Given the description of an element on the screen output the (x, y) to click on. 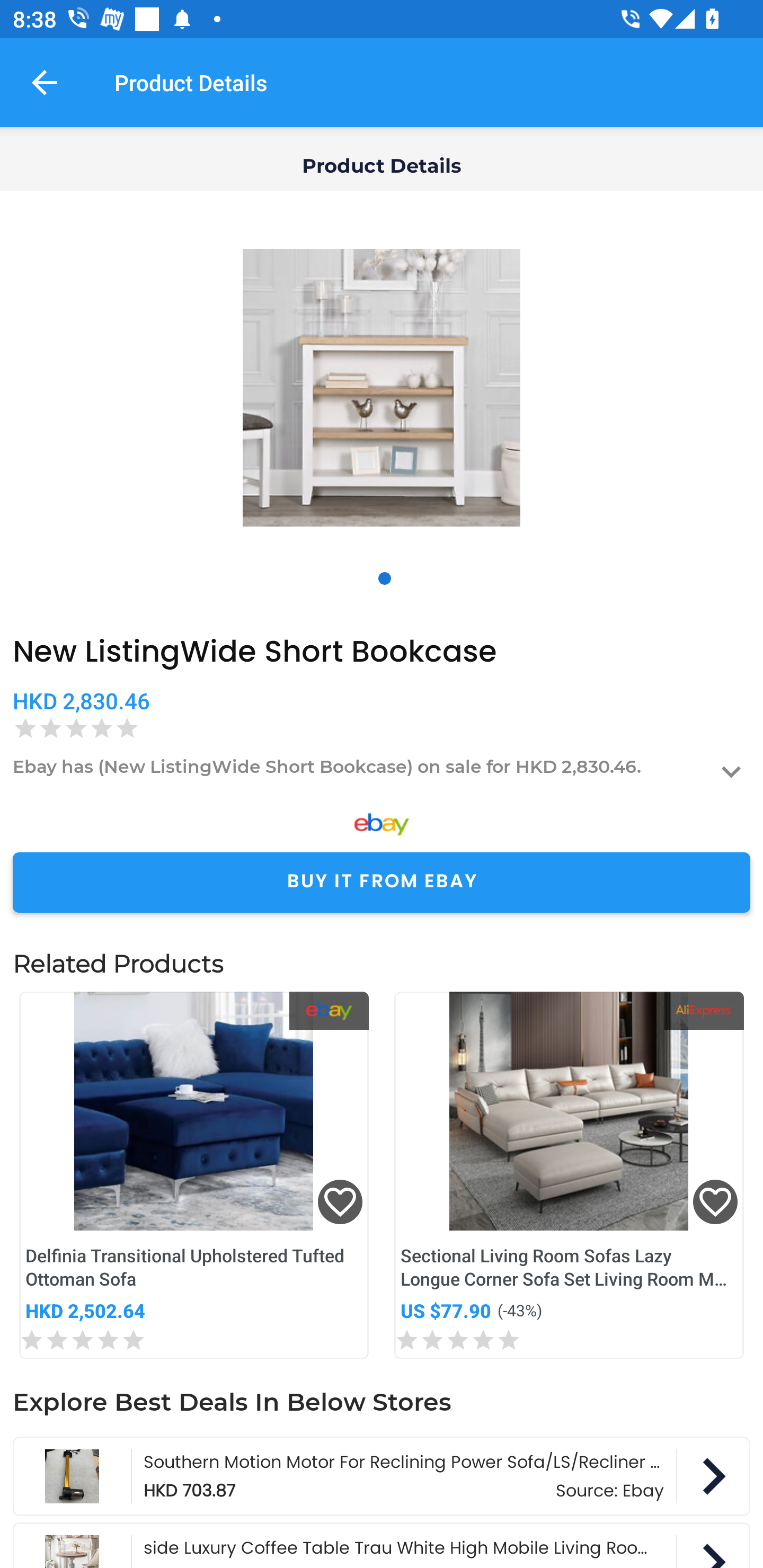
Navigate up (44, 82)
BUY IT FROM EBAY (381, 882)
